Given the description of an element on the screen output the (x, y) to click on. 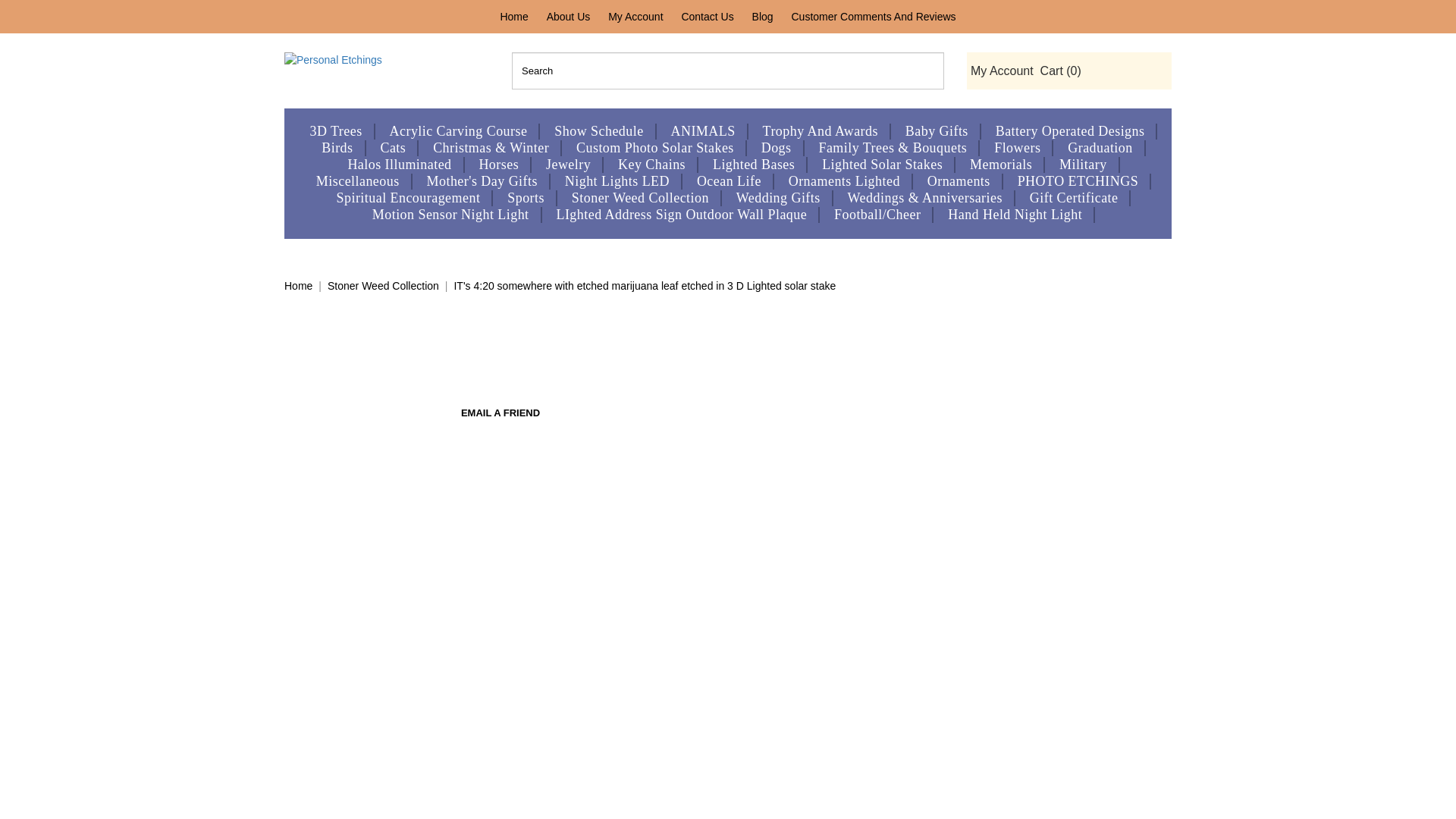
My Account (635, 16)
3D Trees (336, 131)
Horses (498, 164)
Military (1083, 164)
ANIMALS (702, 131)
Lighted Bases (753, 164)
My Account (999, 70)
Halos Illuminated (399, 164)
Baby Gifts (936, 131)
Night Lights LED (617, 181)
